Given the description of an element on the screen output the (x, y) to click on. 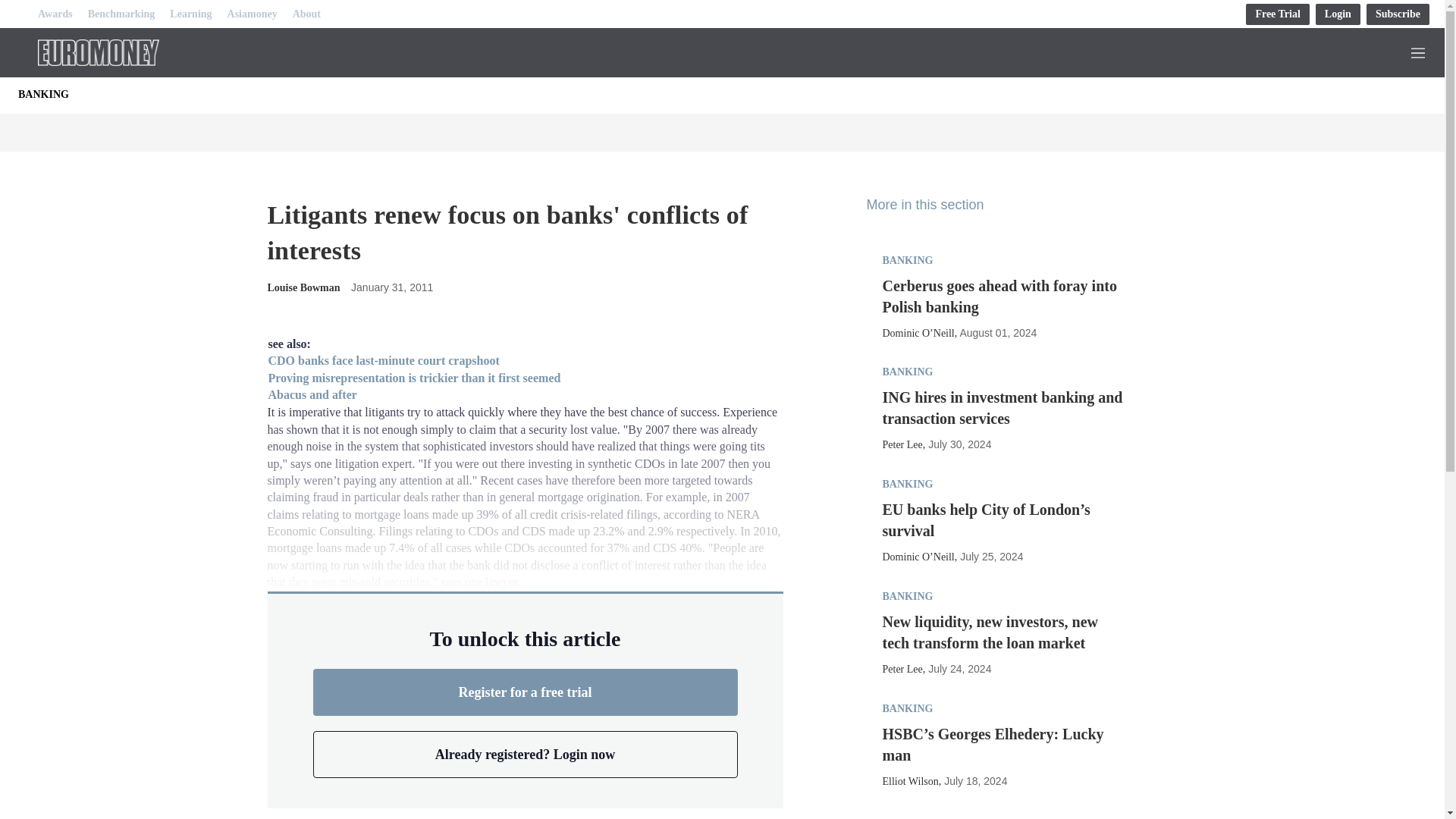
Login (1337, 13)
Free Trial (1277, 13)
Asiamoney (252, 13)
Awards (54, 13)
Learning (190, 13)
About (306, 13)
Subscribe (1398, 13)
Benchmarking (121, 13)
